Given the description of an element on the screen output the (x, y) to click on. 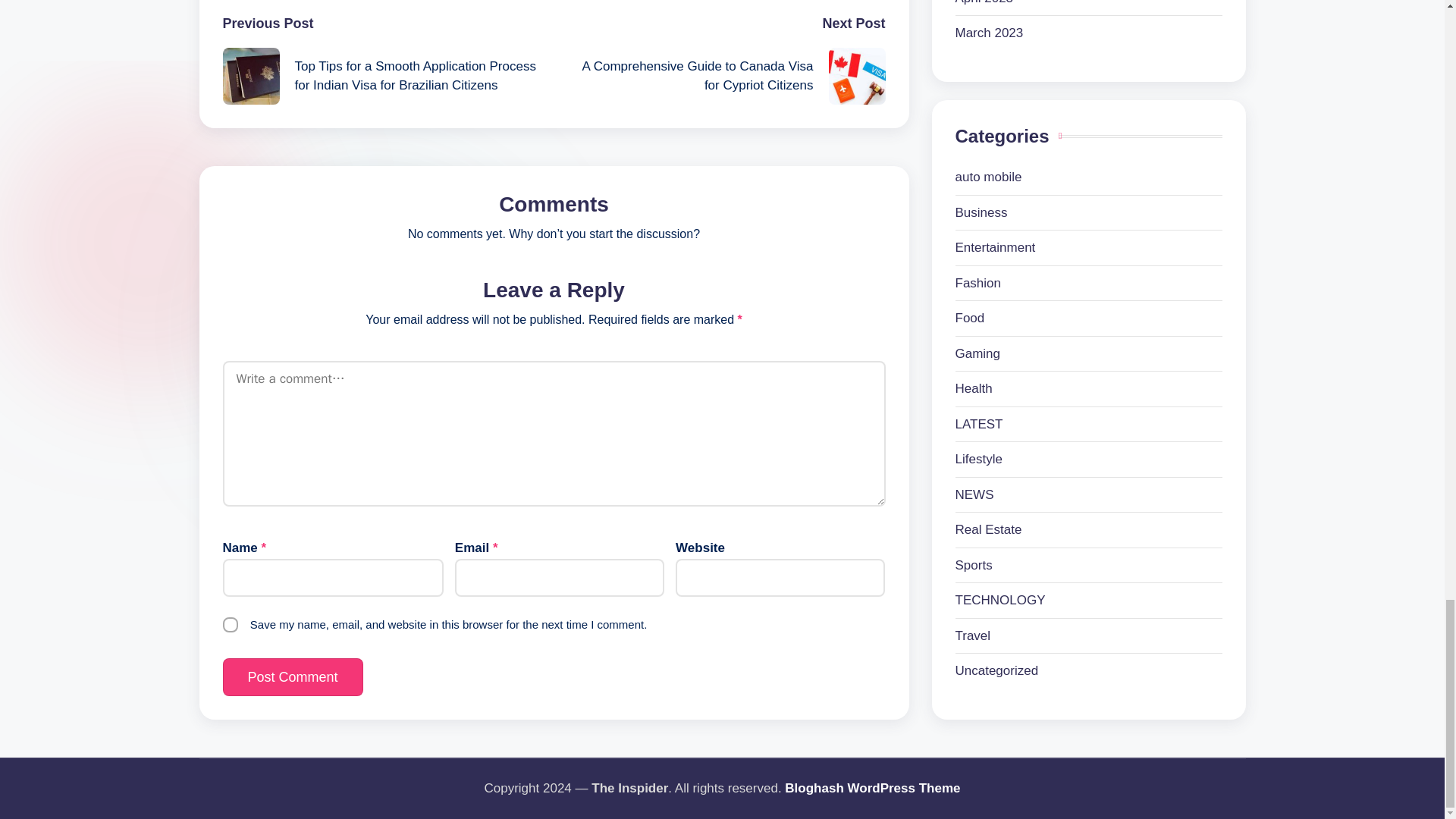
A Comprehensive Guide to Canada Visa for Cypriot Citizens (719, 75)
yes (230, 624)
Post Comment (292, 677)
Post Comment (292, 677)
